Given the description of an element on the screen output the (x, y) to click on. 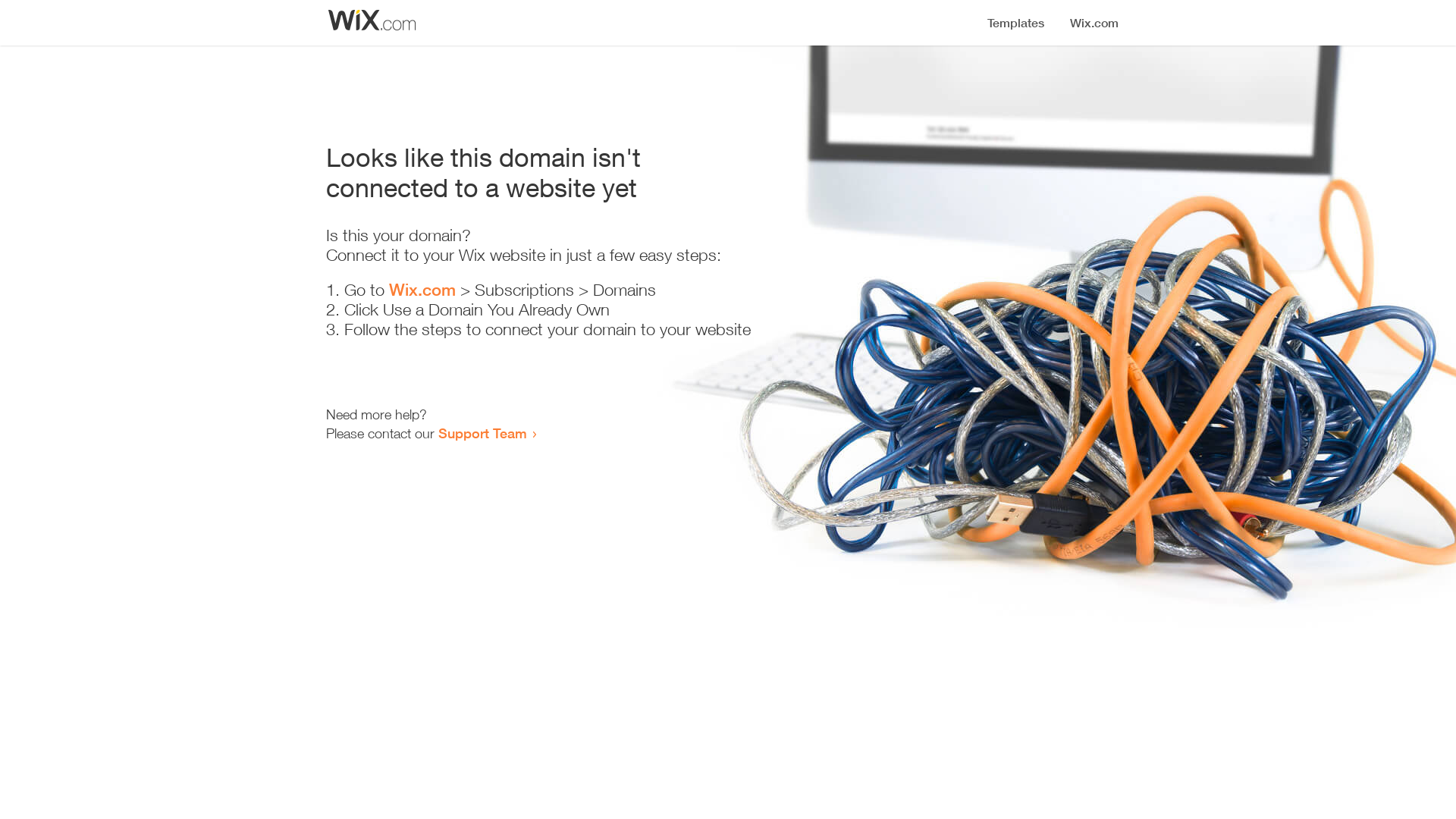
Support Team Element type: text (482, 432)
Wix.com Element type: text (422, 289)
